Given the description of an element on the screen output the (x, y) to click on. 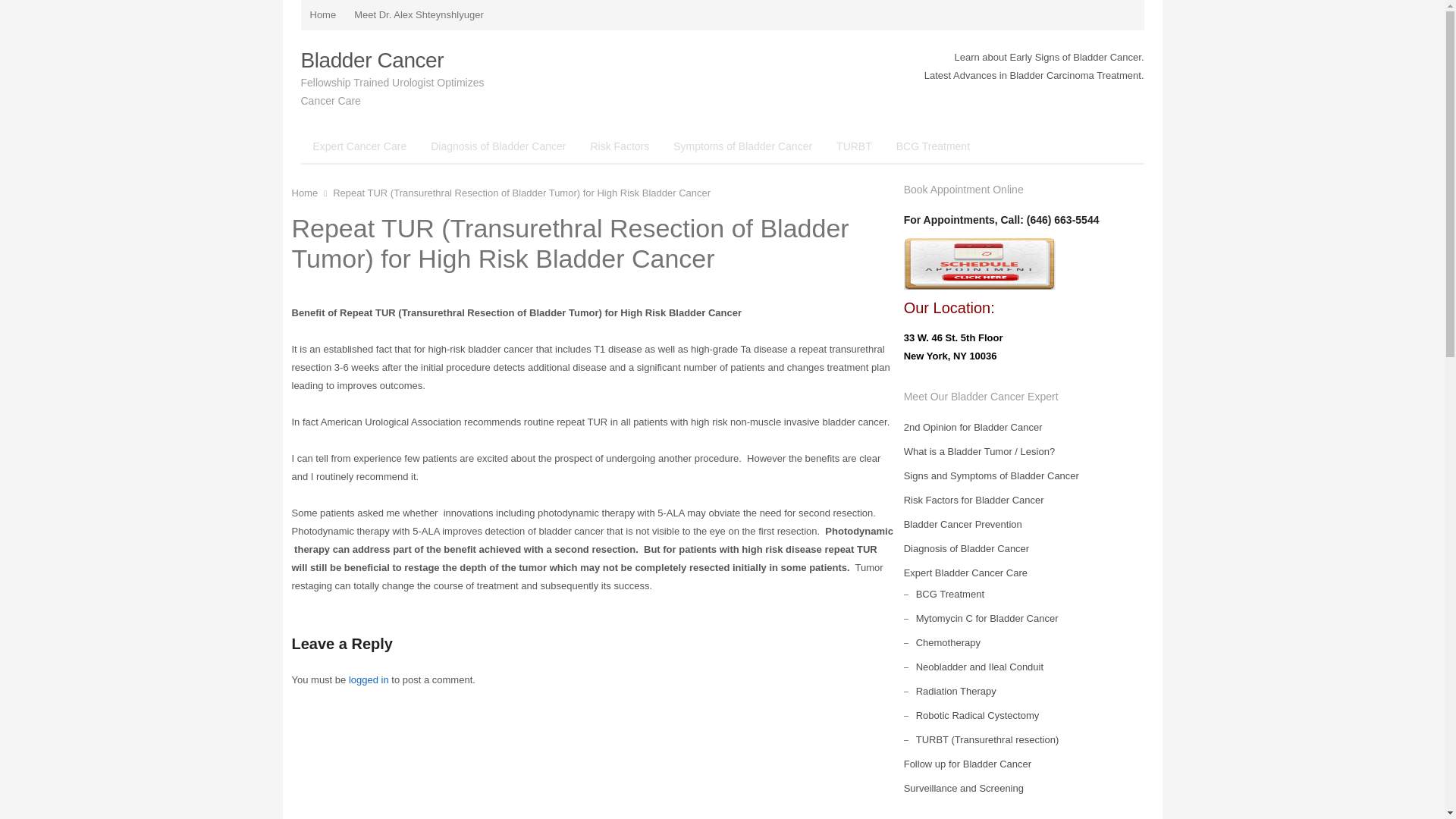
Home (322, 14)
TURBT (853, 145)
Neobladder and Ileal Conduit (979, 666)
Bladder Cancer (371, 60)
Expert Bladder Cancer Care (965, 572)
BCG Treatment (949, 593)
Symptoms of Bladder Cancer (742, 145)
Risk Factors for Bladder Cancer (973, 500)
Diagnosis of Bladder Cancer (498, 145)
Diagnosis of Bladder Cancer (966, 548)
Radiation Therapy (955, 690)
Bladder Cancer (371, 60)
Surveillance and Screening (963, 787)
Expert Cancer Care (359, 145)
Bladder Cancer Prevention (963, 523)
